Given the description of an element on the screen output the (x, y) to click on. 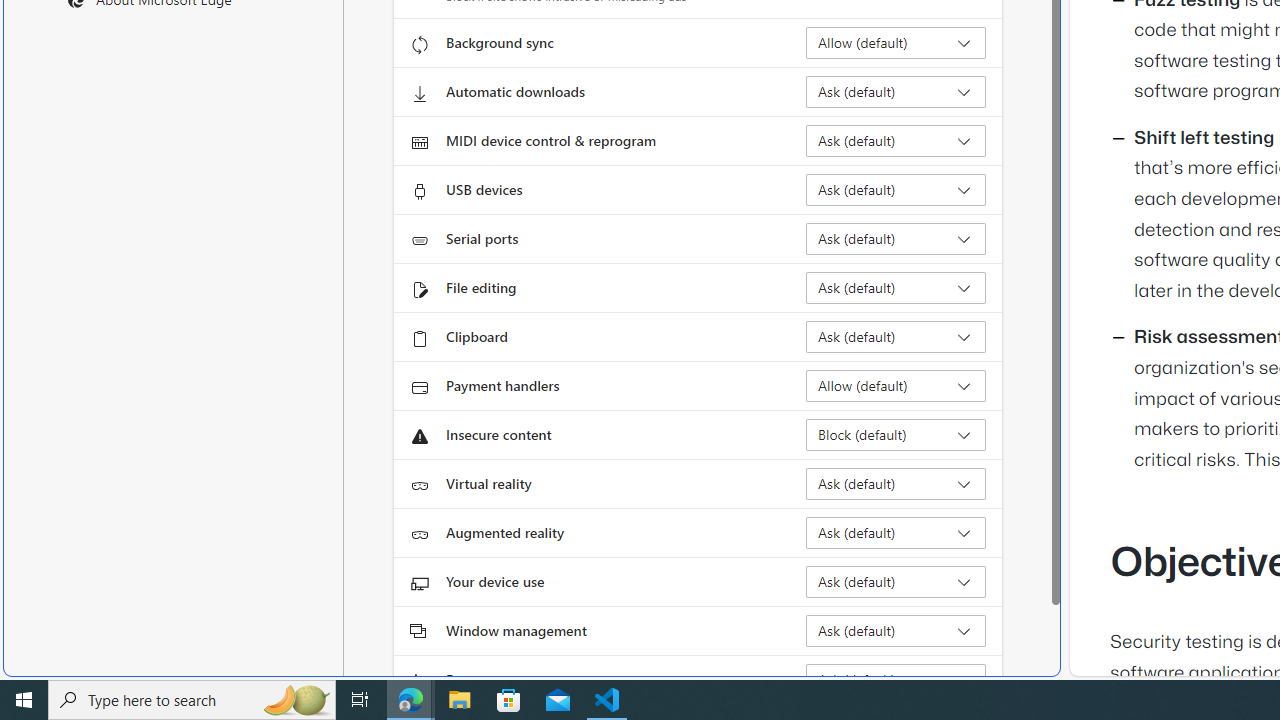
Insecure content Block (default) (895, 434)
Fonts Ask (default) (895, 679)
MIDI device control & reprogram Ask (default) (895, 140)
Clipboard Ask (default) (895, 336)
Background sync Allow (default) (895, 43)
USB devices Ask (default) (895, 189)
File editing Ask (default) (895, 287)
Virtual reality Ask (default) (895, 483)
Serial ports Ask (default) (895, 238)
Augmented reality Ask (default) (895, 532)
Window management Ask (default) (895, 630)
Your device use Ask (default) (895, 581)
Payment handlers Allow (default) (895, 385)
Automatic downloads Ask (default) (895, 92)
